Given the description of an element on the screen output the (x, y) to click on. 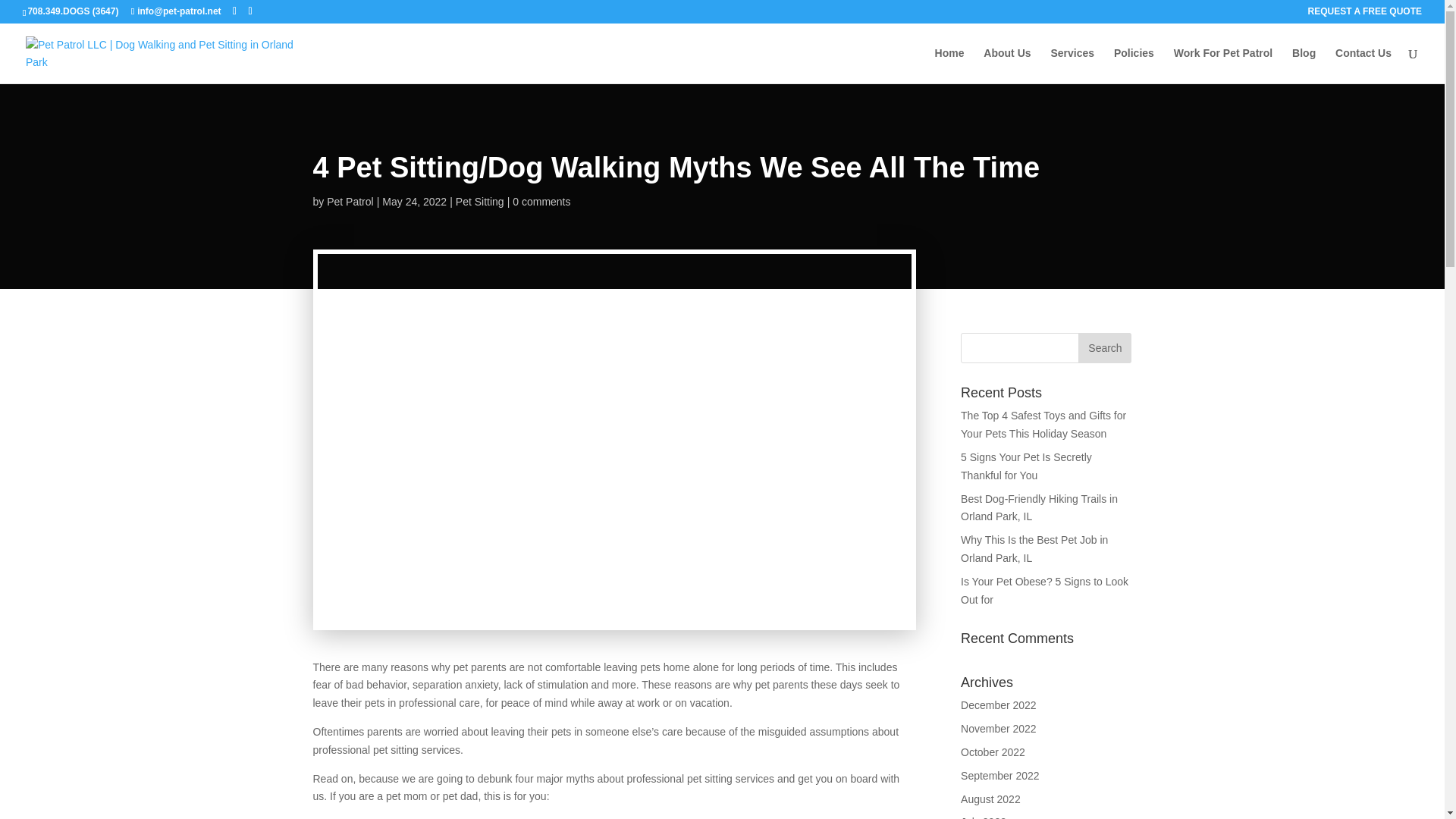
Pet Sitting (479, 201)
Contact Us (1363, 65)
Posts by Pet Patrol (349, 201)
5 Signs Your Pet Is Secretly Thankful for You (1026, 466)
Search (1104, 347)
July 2022 (983, 817)
Services (1071, 65)
Is Your Pet Obese? 5 Signs to Look Out for (1044, 590)
Pet Patrol (349, 201)
0 comments (541, 201)
